Given the description of an element on the screen output the (x, y) to click on. 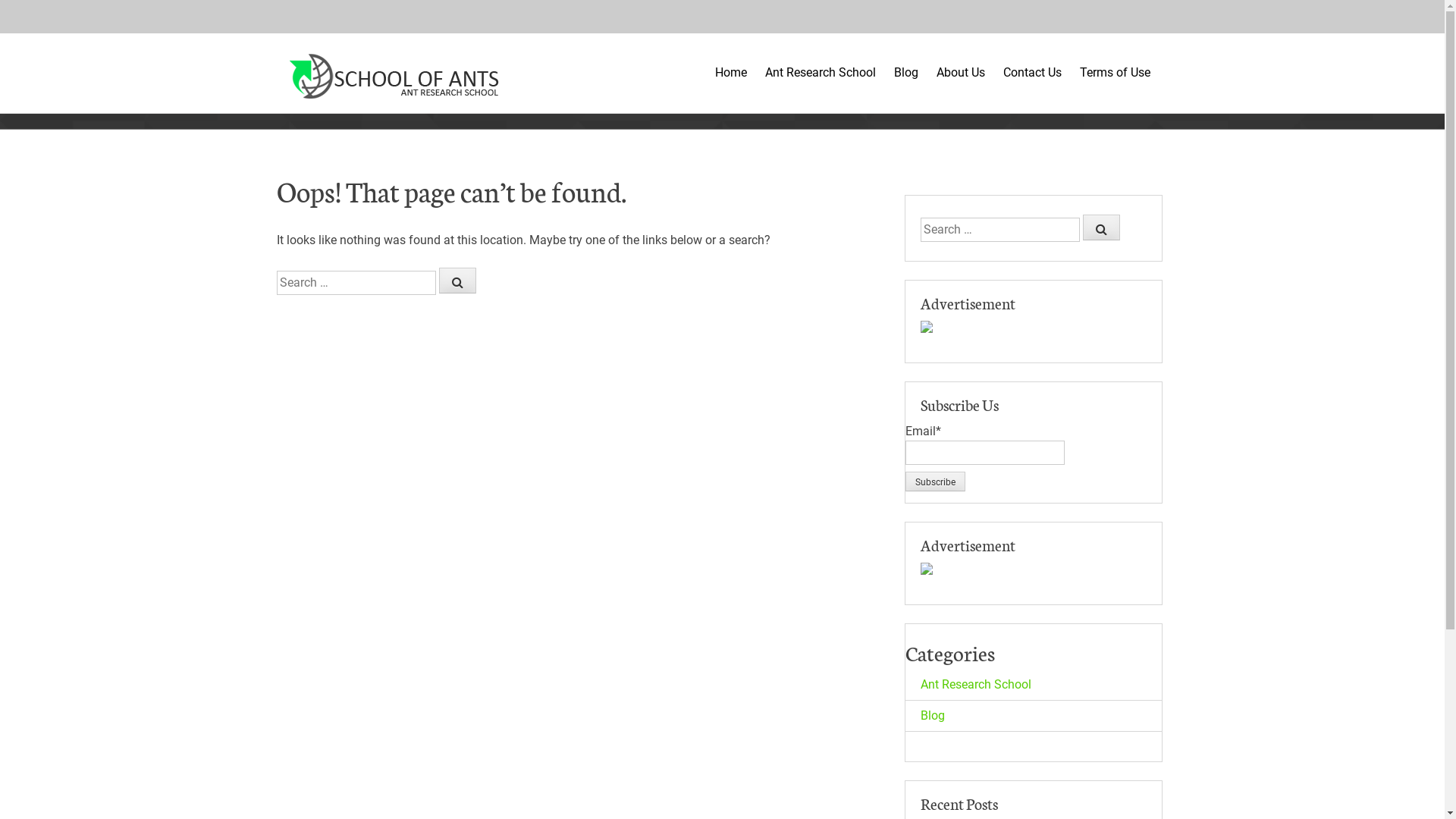
Subscribe Element type: text (935, 481)
Terms of Use Element type: text (1114, 86)
Contact Us Element type: text (1031, 86)
Home Element type: text (730, 86)
About Us Element type: text (959, 86)
Blog Element type: text (905, 86)
Ant Research School Element type: text (975, 684)
Blog Element type: text (932, 715)
Ant Research School Element type: text (819, 86)
